Given the description of an element on the screen output the (x, y) to click on. 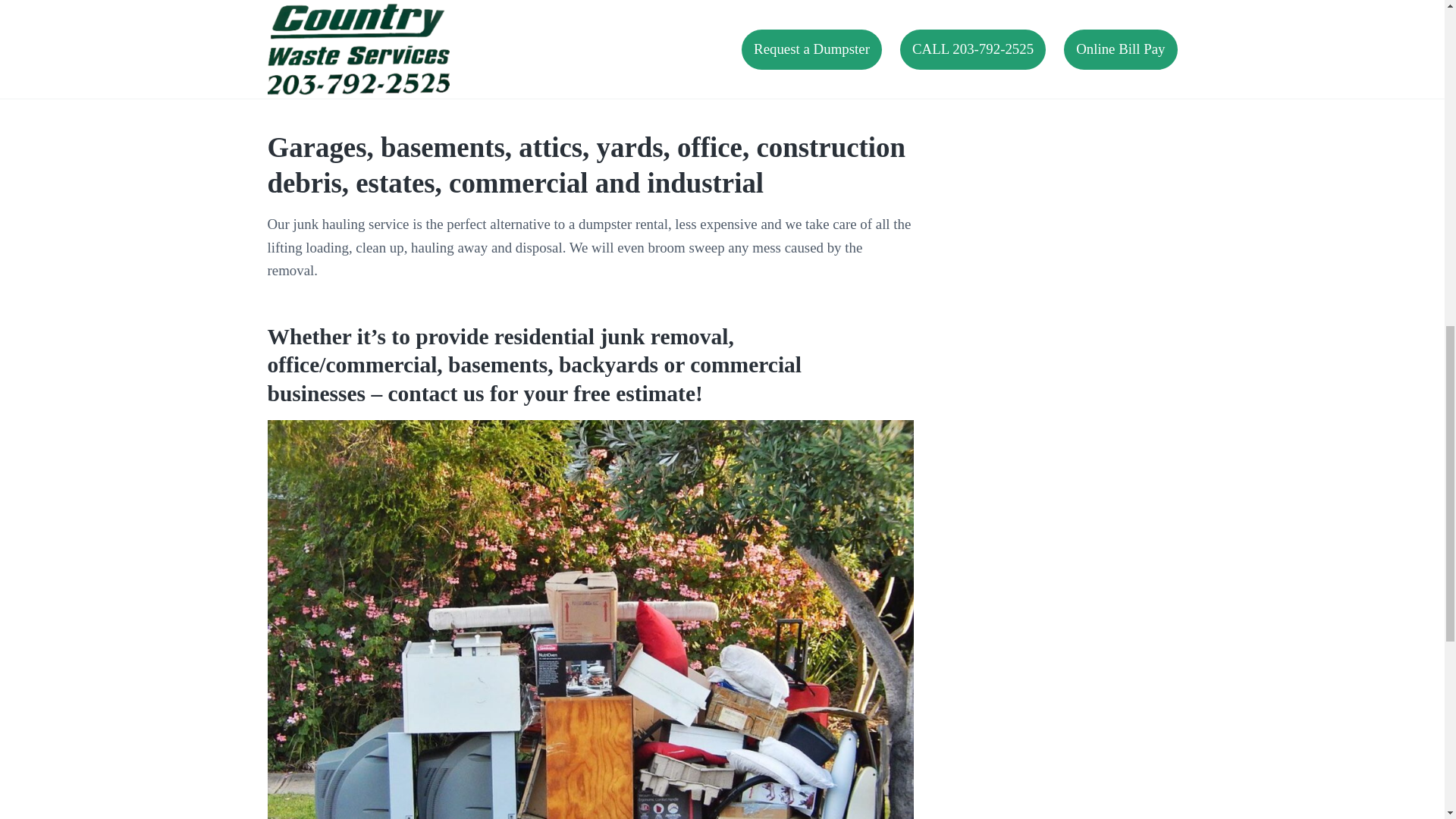
Submit (989, 1)
